Given the description of an element on the screen output the (x, y) to click on. 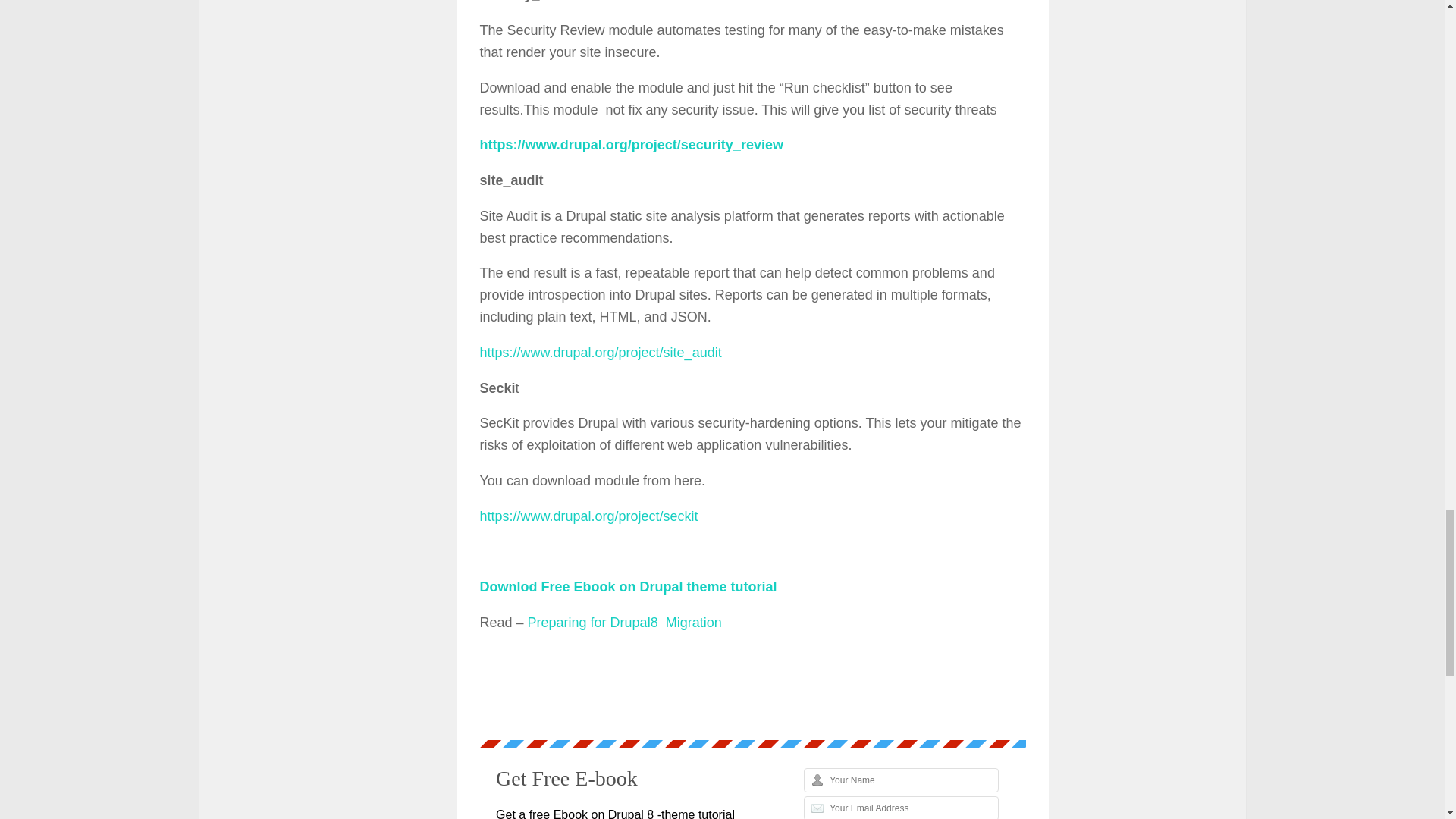
Preparing for Drupal8  Migration (624, 622)
Downlod Free Ebook on Drupal theme tutorial (627, 586)
